Given the description of an element on the screen output the (x, y) to click on. 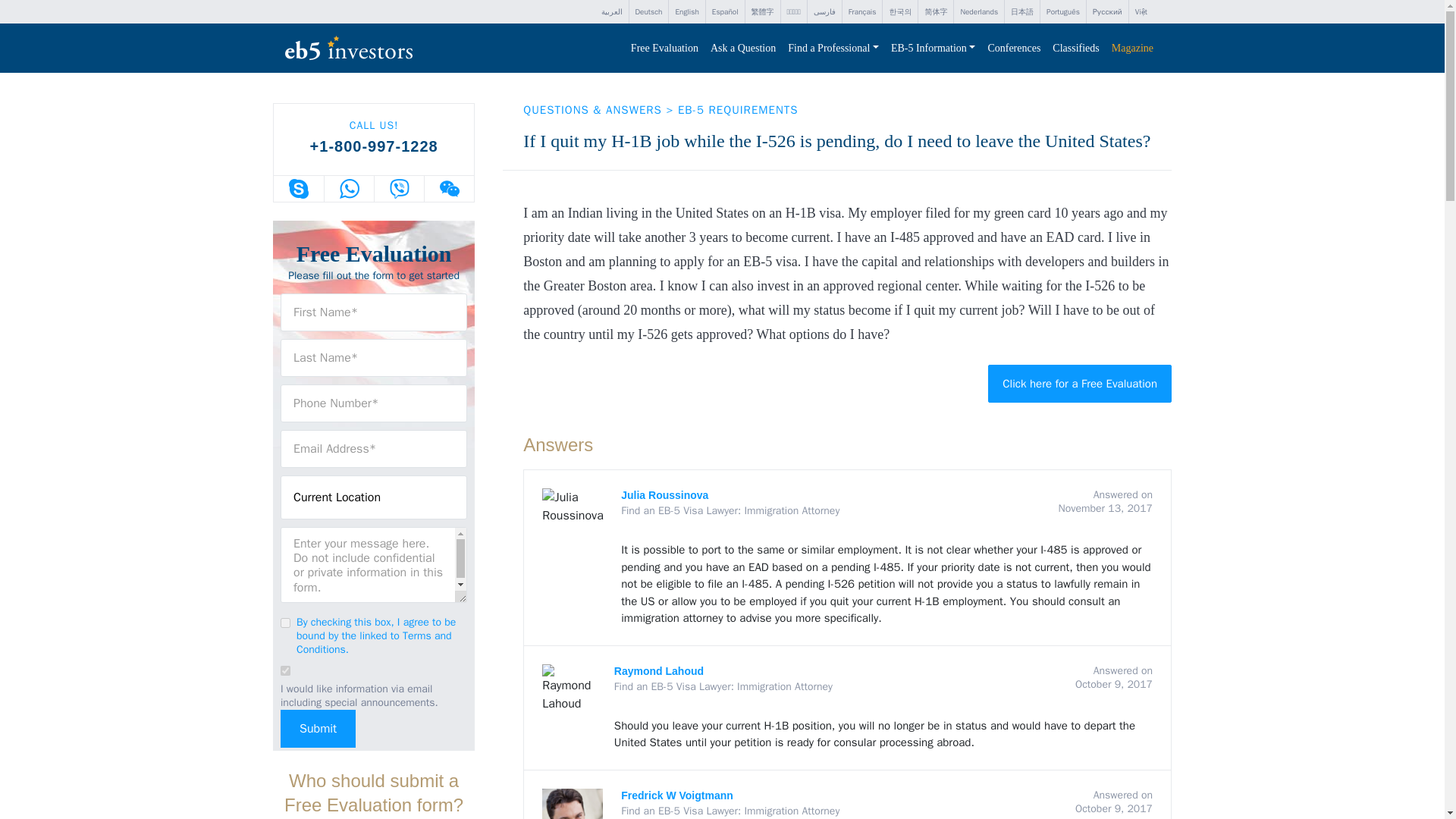
Free Evaluation (664, 48)
Free Evaluation (664, 48)
Submit (318, 728)
Ask a Question (742, 48)
Find a Professional (833, 48)
English (686, 11)
EB-5 Information (933, 48)
Nederlands (978, 11)
1 (285, 623)
Ask a Question (742, 48)
Find a Professional (833, 48)
Deutsch (648, 11)
